Given the description of an element on the screen output the (x, y) to click on. 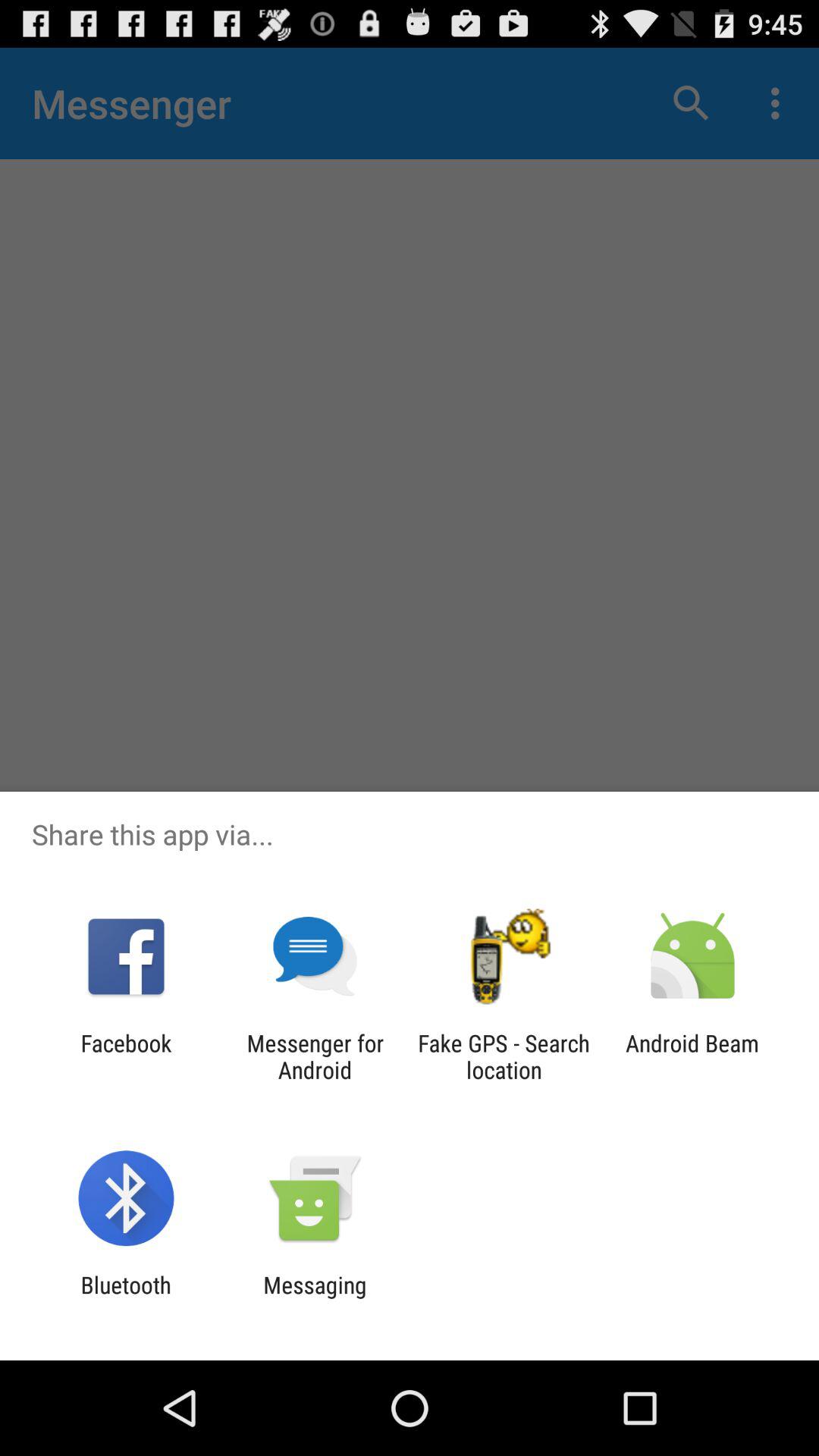
select messenger for android (314, 1056)
